Given the description of an element on the screen output the (x, y) to click on. 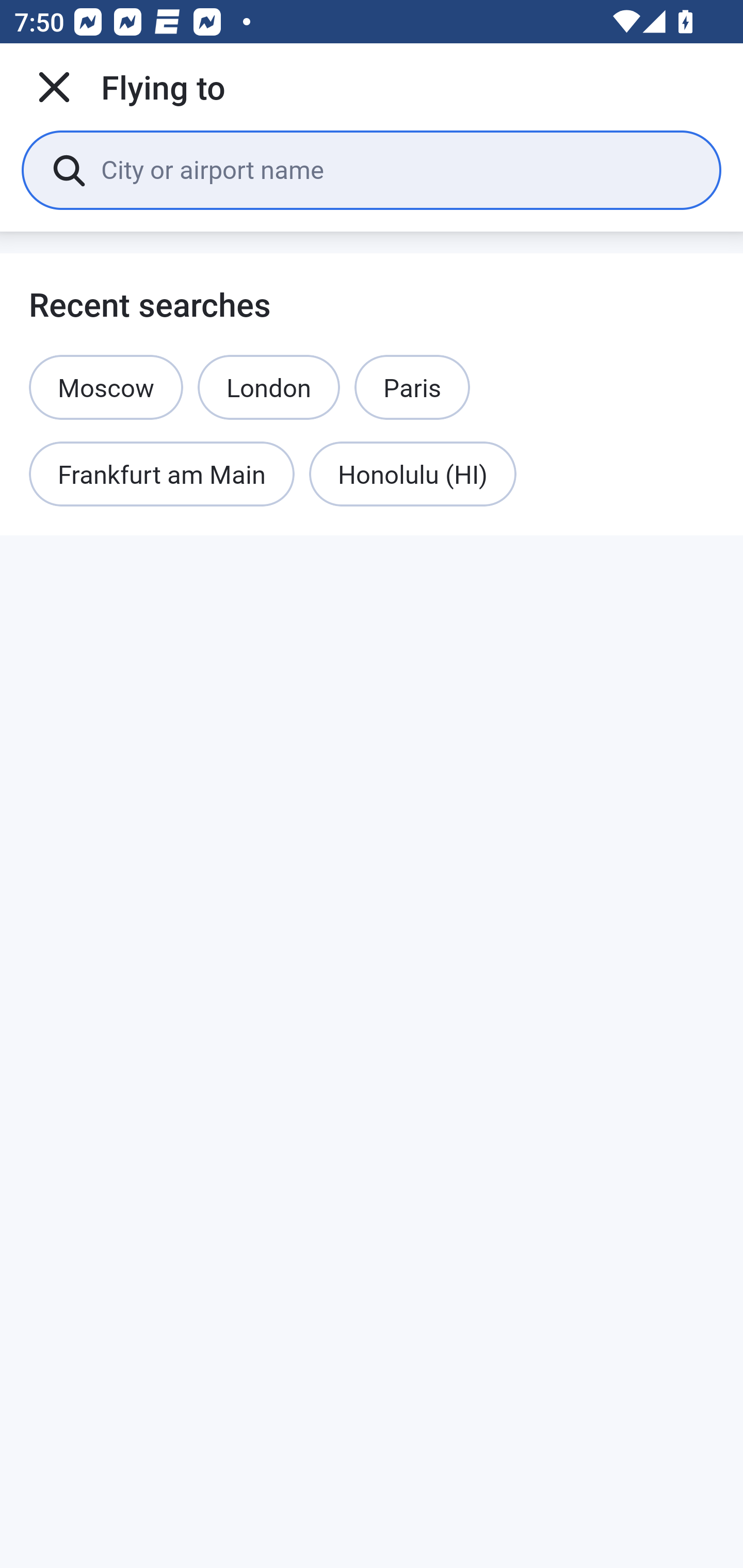
City or airport name (396, 169)
Moscow (105, 387)
London (268, 387)
Paris (412, 387)
Frankfurt am Main (161, 474)
Honolulu (HI) (412, 474)
